Given the description of an element on the screen output the (x, y) to click on. 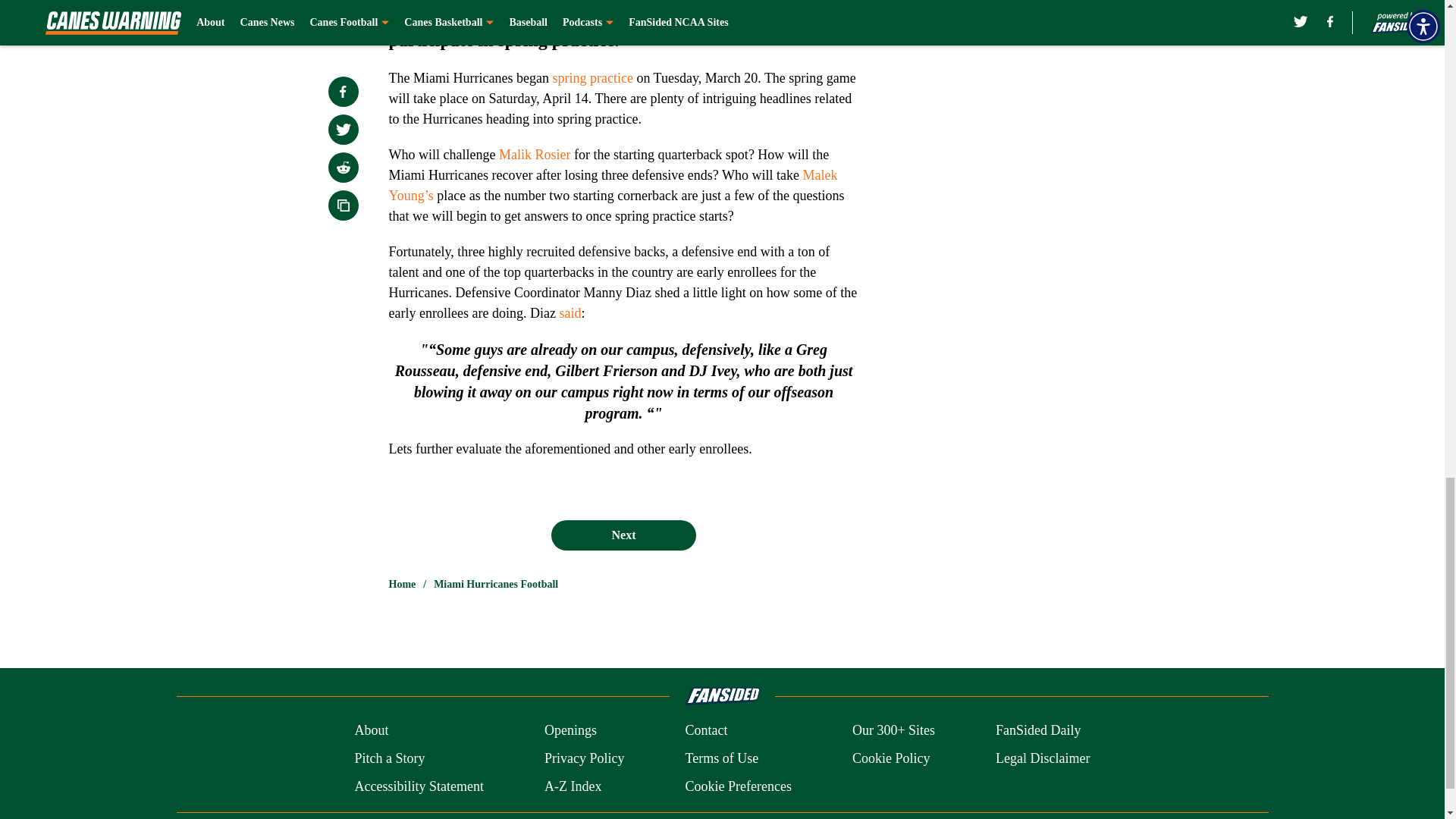
Malik Rosier (534, 154)
Home (401, 584)
spring practice (591, 77)
Openings (570, 730)
About (370, 730)
said (569, 313)
Next (622, 535)
Miami Hurricanes Football (495, 584)
